Given the description of an element on the screen output the (x, y) to click on. 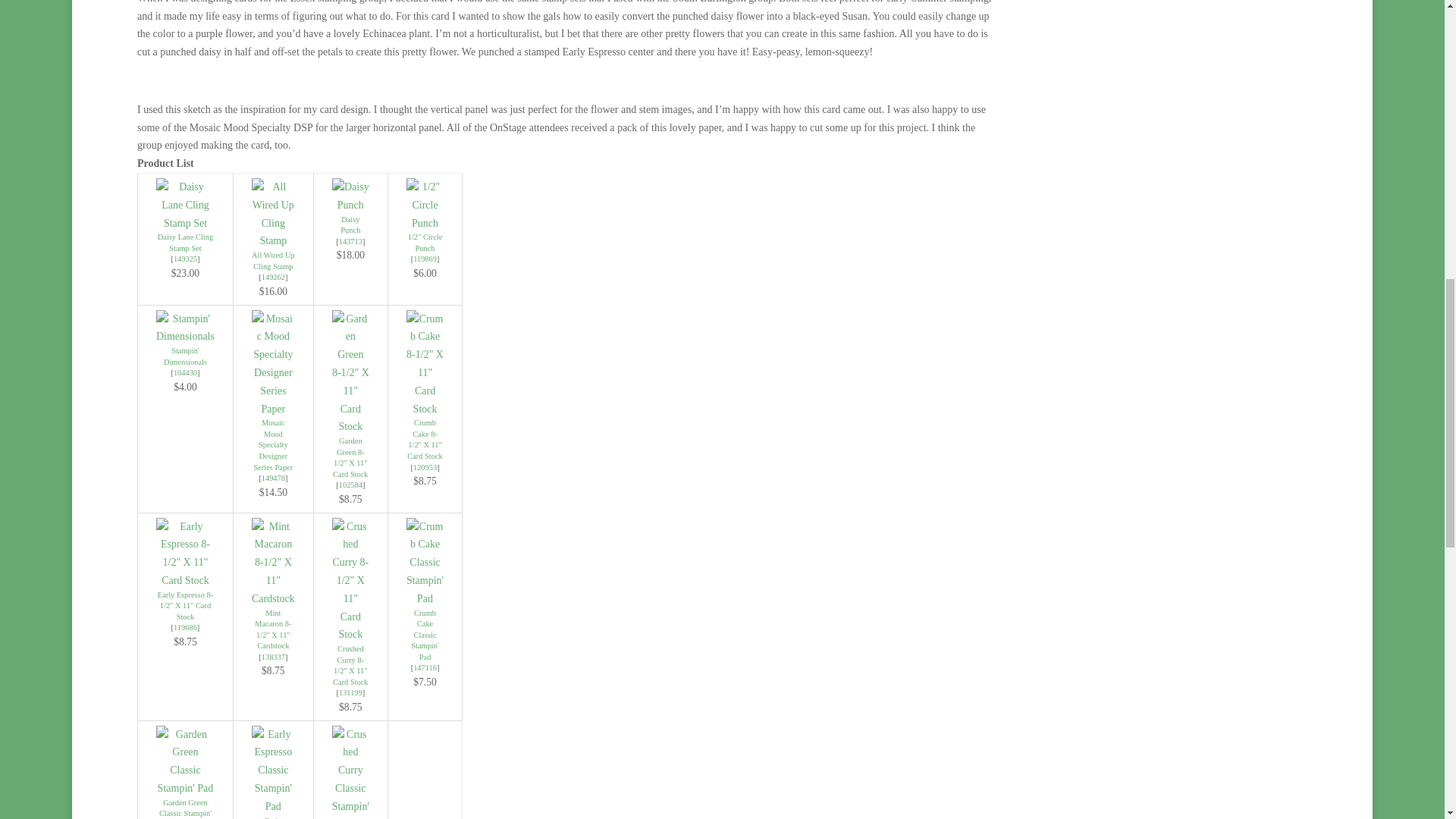
104430 (184, 372)
102584 (350, 484)
Daisy Punch (349, 225)
149325 (184, 258)
149262 (273, 276)
Daisy Punch (350, 241)
All Wired Up Cling Stamp (273, 260)
Daisy Punch (350, 196)
Daisy Lane Cling Stamp Set (184, 258)
All Wired Up Cling Stamp (273, 276)
All Wired Up Cling Stamp (273, 240)
143713 (350, 241)
119869 (424, 258)
Daisy Lane Cling Stamp Set (184, 242)
Daisy Punch (349, 225)
